Given the description of an element on the screen output the (x, y) to click on. 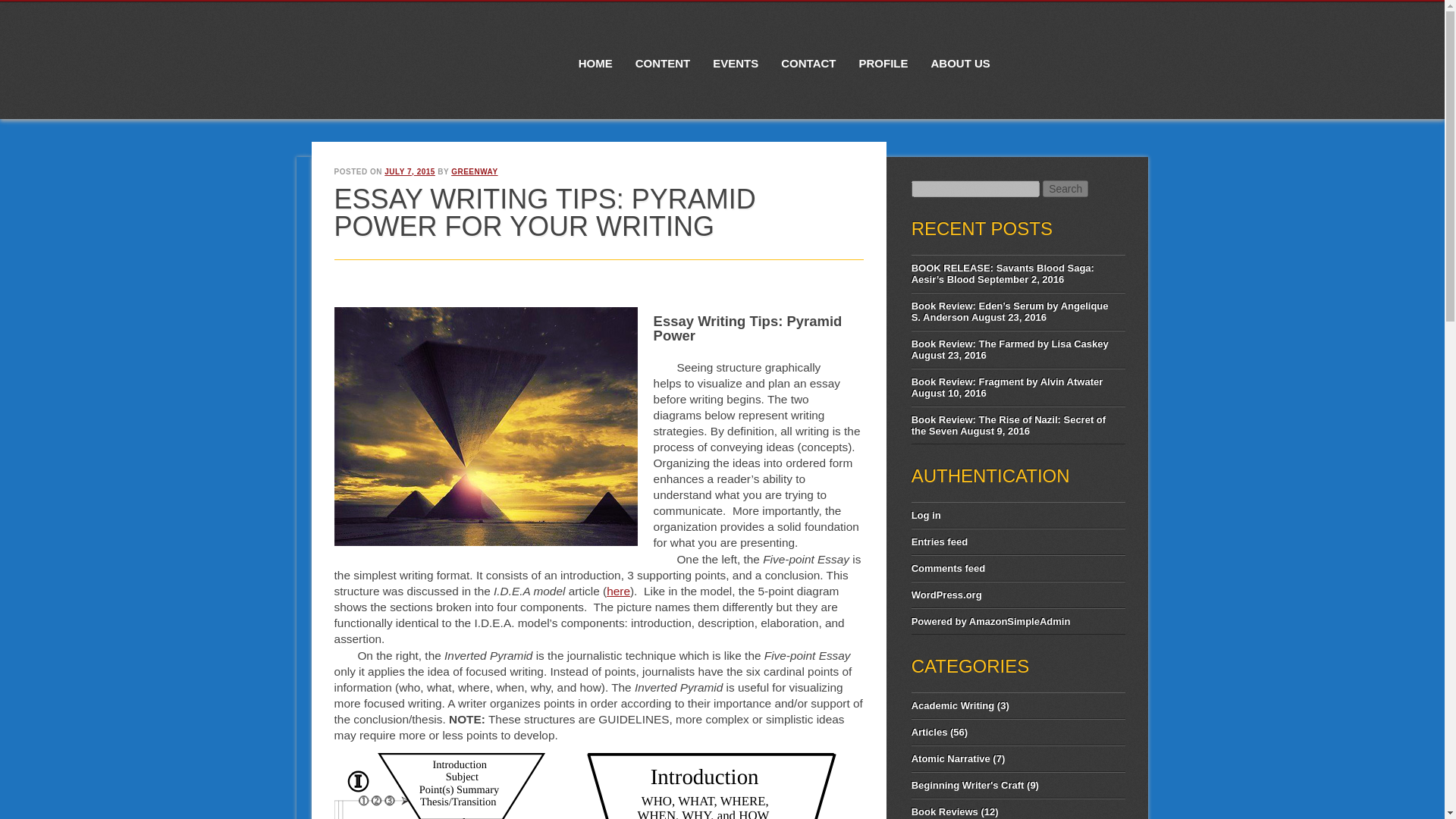
5:57 pm (409, 171)
Skip to content (602, 9)
WordPress.org (946, 594)
Search (1064, 188)
Book Review: The Rise of Nazil: Secret of the Seven (1008, 425)
HOME (595, 53)
here (618, 590)
JULY 7, 2015 (409, 171)
EVENTS (735, 53)
Entries feed (939, 541)
PROFILE (882, 53)
CONTENT (662, 53)
Book Review: The Farmed by Lisa Caskey (1009, 343)
Log in (925, 514)
Search (1064, 188)
